Given the description of an element on the screen output the (x, y) to click on. 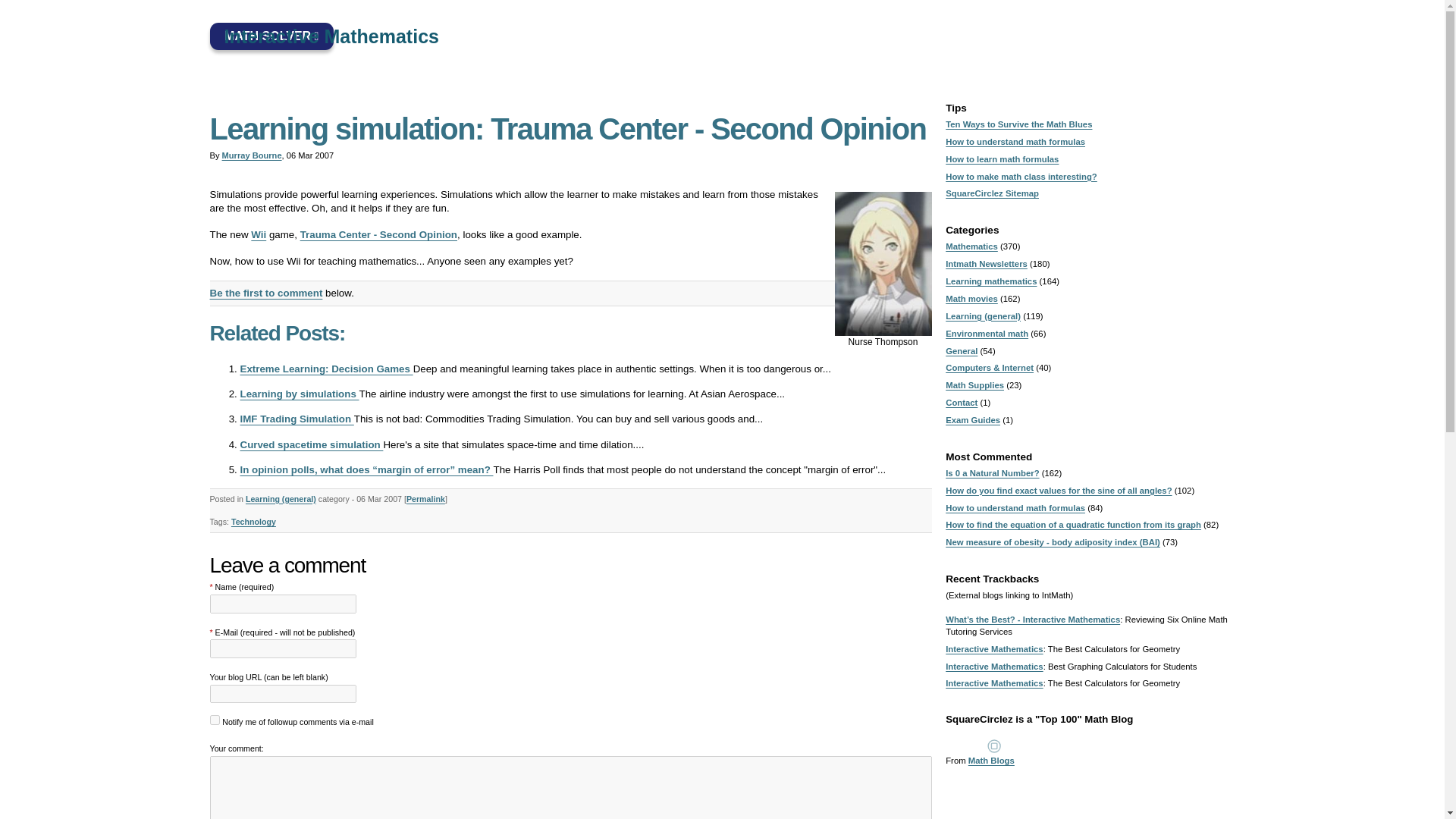
Permalink (425, 498)
subscribe (214, 719)
Search (1238, 35)
Technology (253, 521)
Interactive Mathematics (307, 36)
Wii (258, 234)
Murray Bourne (252, 154)
IMF Trading Simulation (296, 419)
Trauma Center - Second Opinion (378, 234)
